Given the description of an element on the screen output the (x, y) to click on. 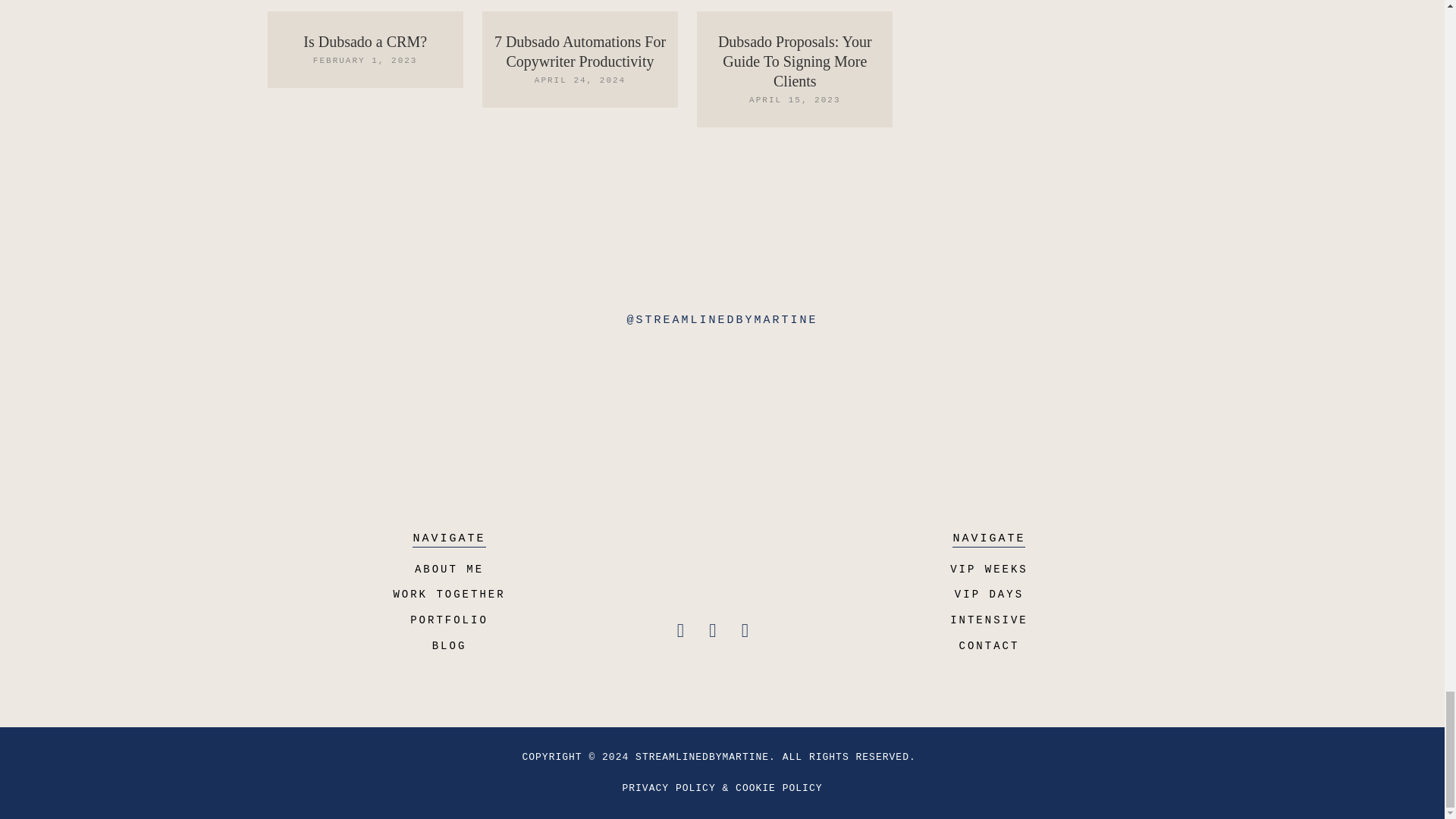
Is Dubsado a CRM? (364, 41)
7 Dubsado Automations For Copywriter Productivity (580, 51)
Dubsado Proposals: Your Guide To Signing More Clients (794, 61)
